Given the description of an element on the screen output the (x, y) to click on. 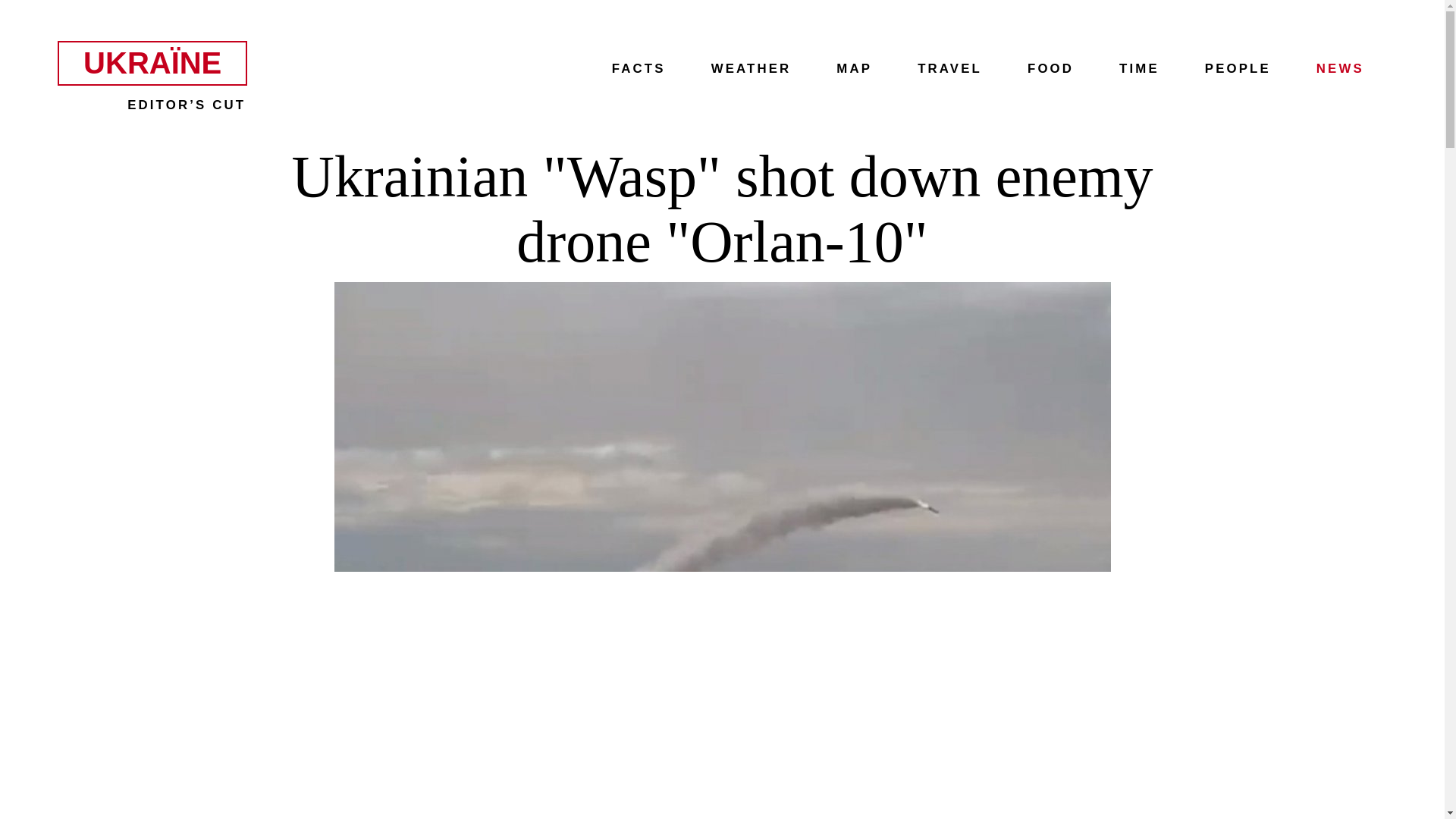
WEATHER (751, 68)
TIME (1138, 68)
TRAVEL (949, 68)
FOOD (1050, 68)
MAP (853, 68)
PEOPLE (1238, 68)
FACTS (638, 68)
NEWS (1340, 68)
